Given the description of an element on the screen output the (x, y) to click on. 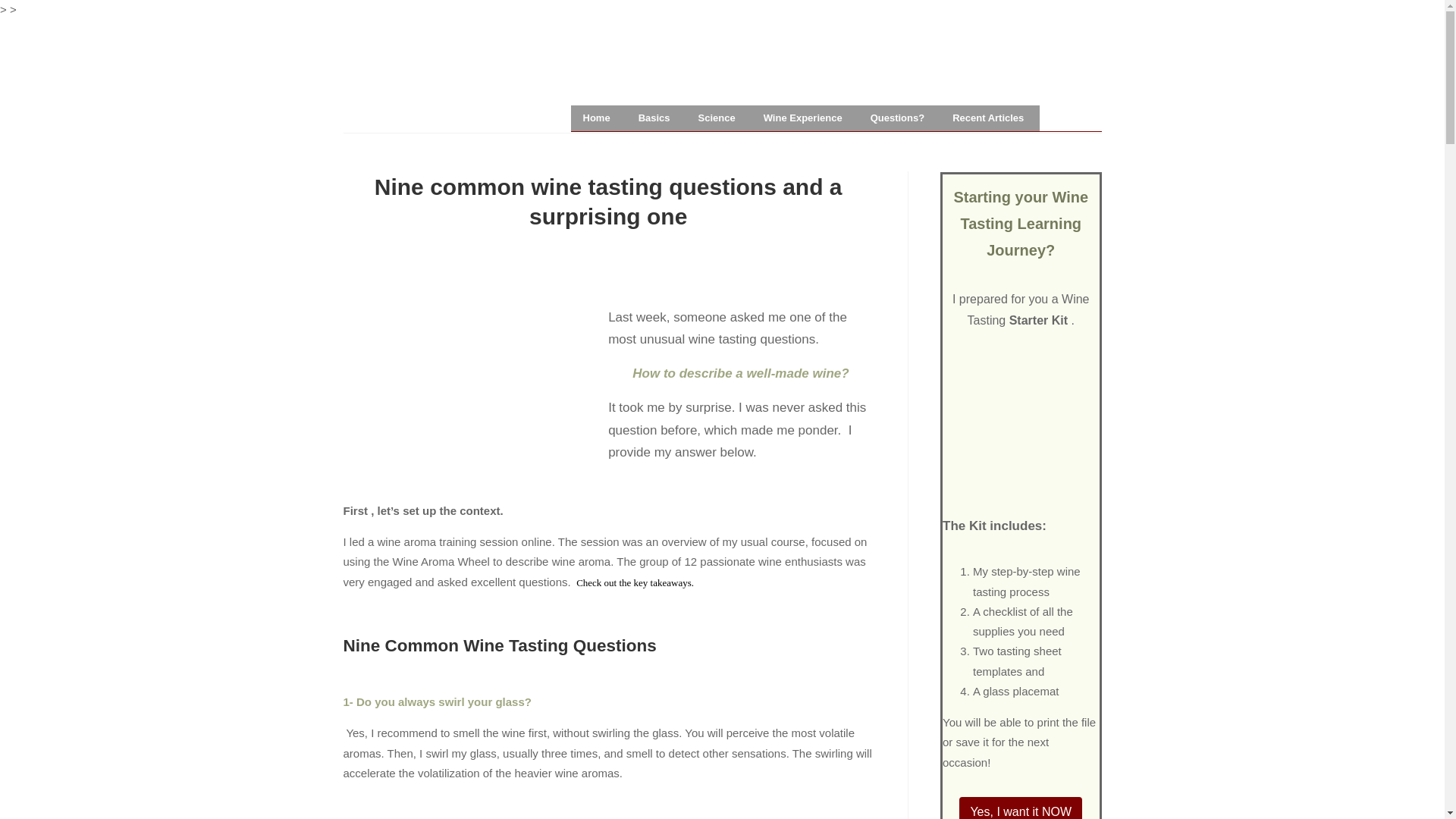
Home (598, 118)
